Given the description of an element on the screen output the (x, y) to click on. 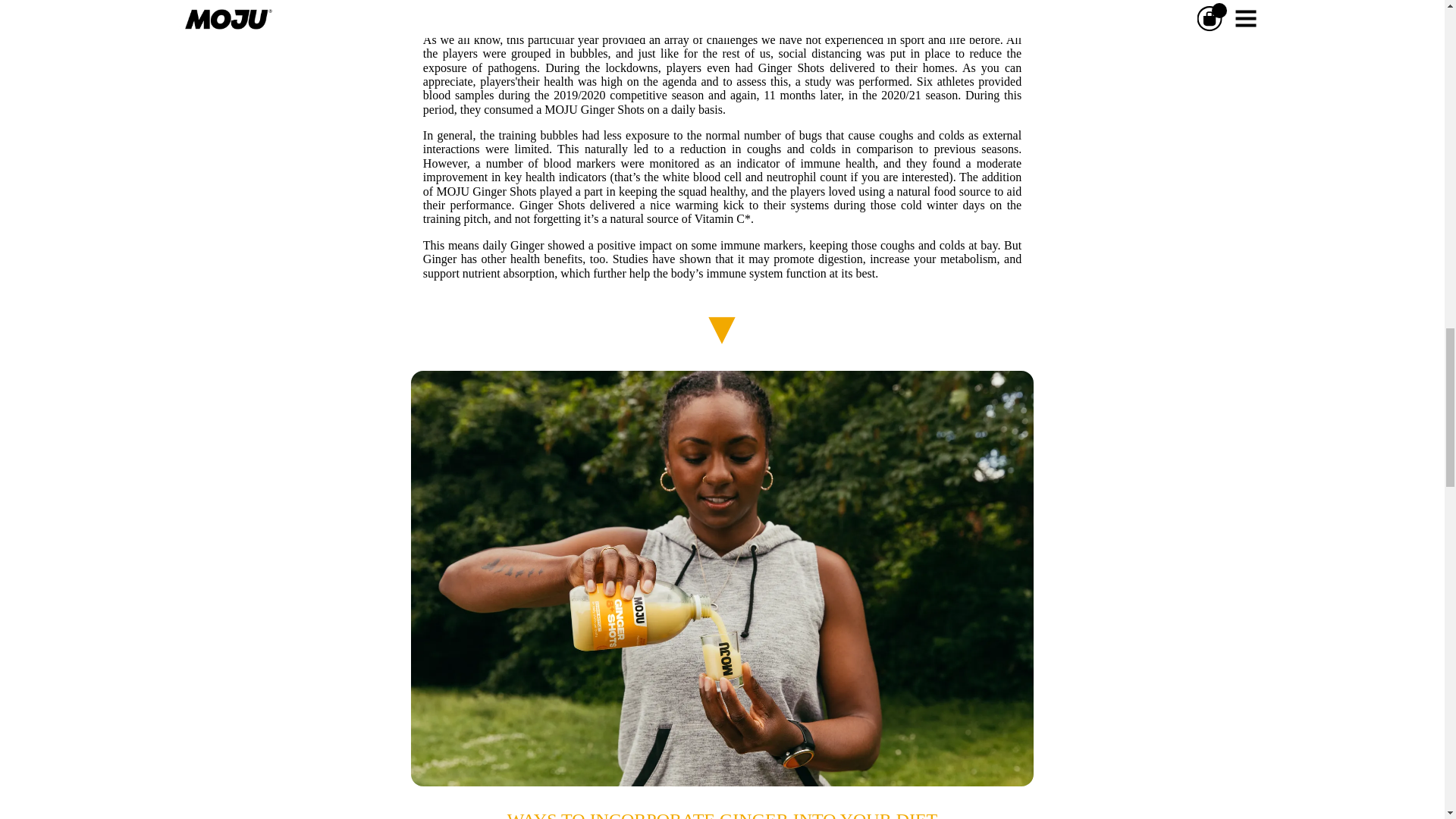
MOJU Ginger Shots (533, 2)
Ginger (440, 258)
Ginger Shots (791, 67)
MOJU Ginger Shots (485, 191)
Ginger Shots (552, 205)
MOJU Ginger Shots (594, 109)
Ginger (527, 245)
